Given the description of an element on the screen output the (x, y) to click on. 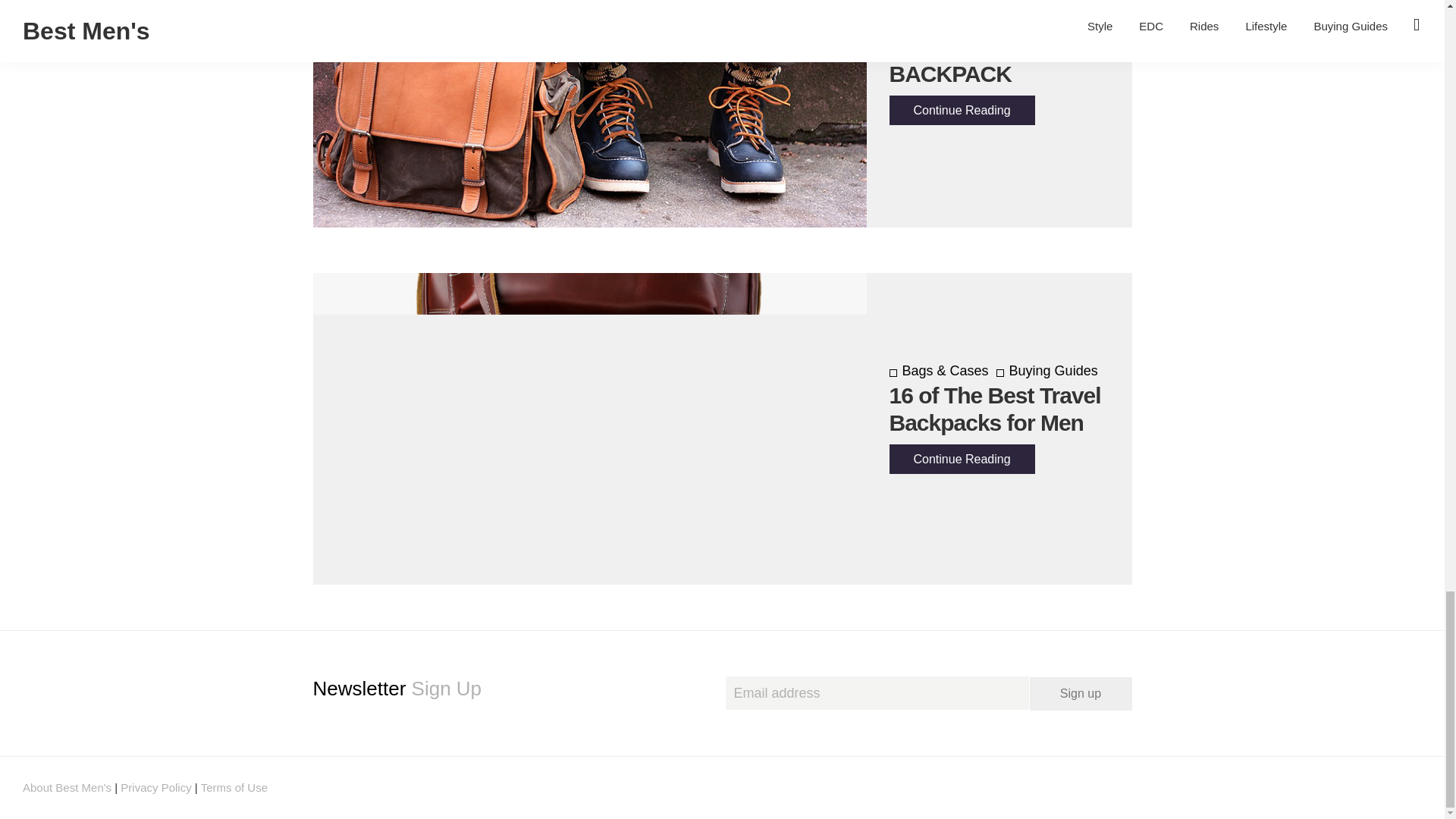
KORCHMAR MARSHALL OLIVE BACKPACK (984, 46)
EDC (1016, 1)
Privacy Policy (155, 787)
16 of The Best Travel Backpacks for Men (994, 408)
Continue Reading (960, 459)
Terms of Use (233, 787)
Sign up (1080, 693)
Sign up (1080, 693)
Continue Reading (960, 110)
Buying Guides (1046, 370)
About Best Men's (67, 787)
